Given the description of an element on the screen output the (x, y) to click on. 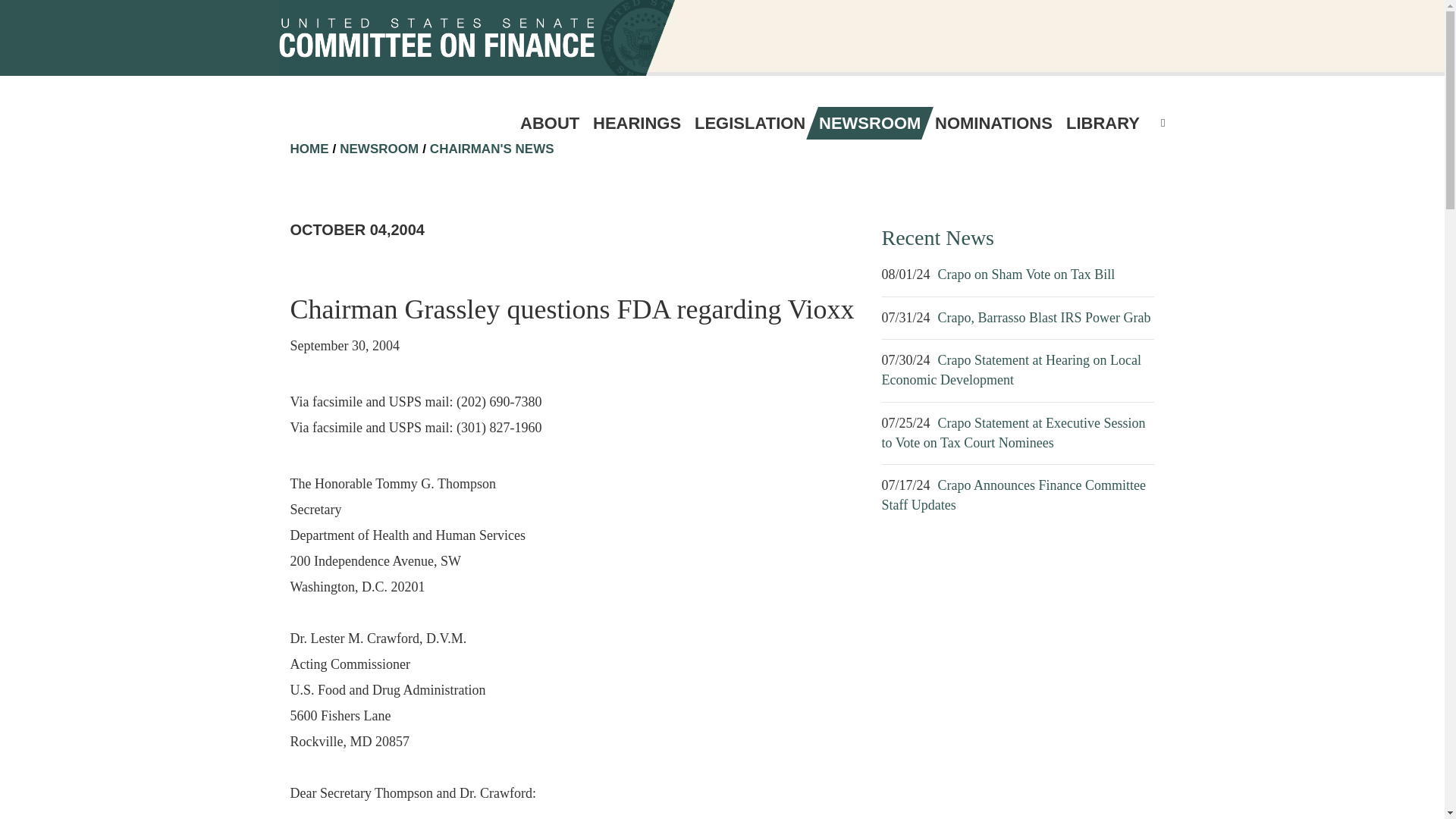
LEGISLATION (749, 123)
NOMINATIONS (993, 123)
HEARINGS (636, 123)
